Given the description of an element on the screen output the (x, y) to click on. 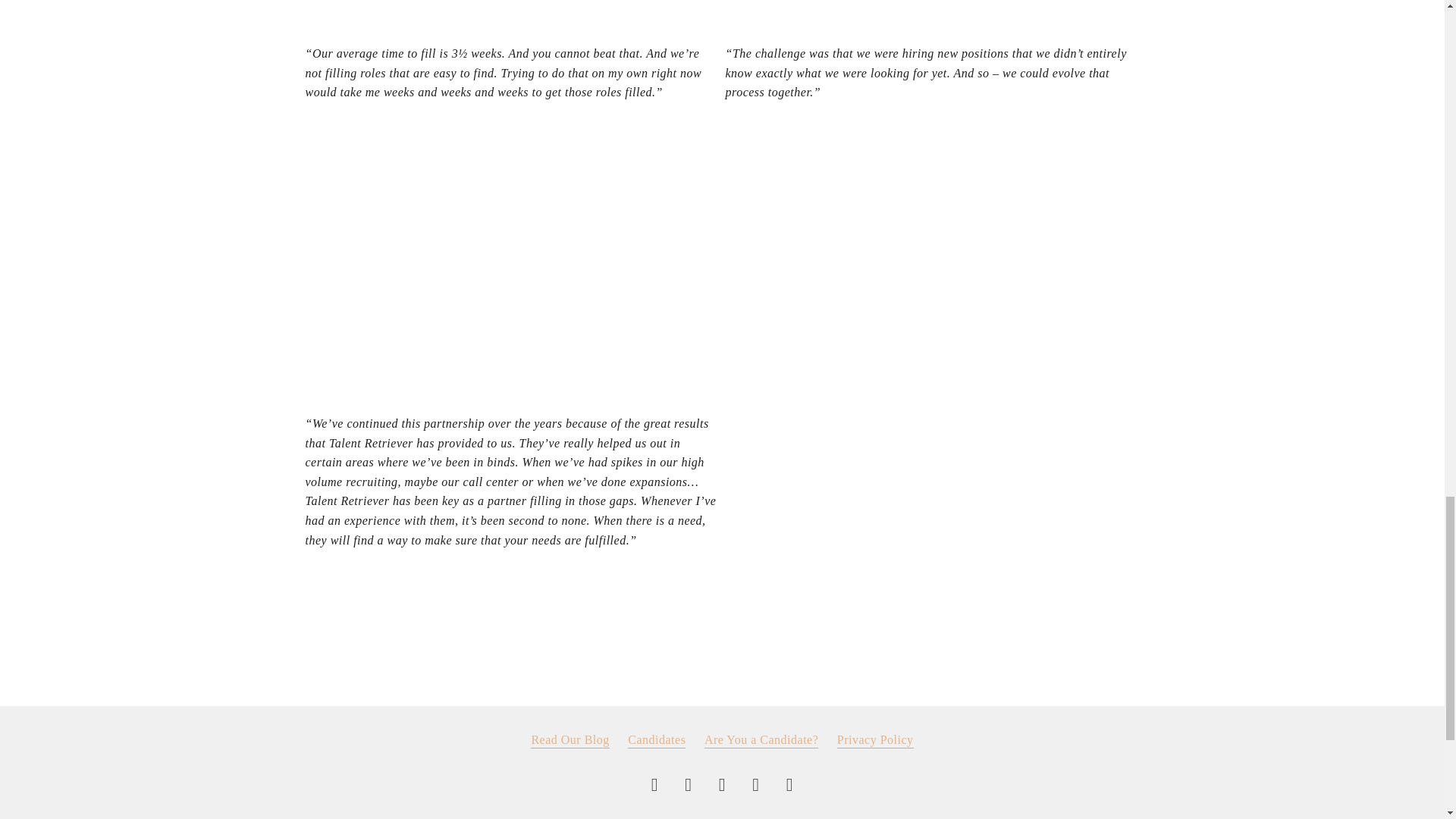
Candidates (656, 740)
Are You a Candidate? (761, 740)
Privacy Policy (875, 740)
Read Our Blog (569, 740)
